Given the description of an element on the screen output the (x, y) to click on. 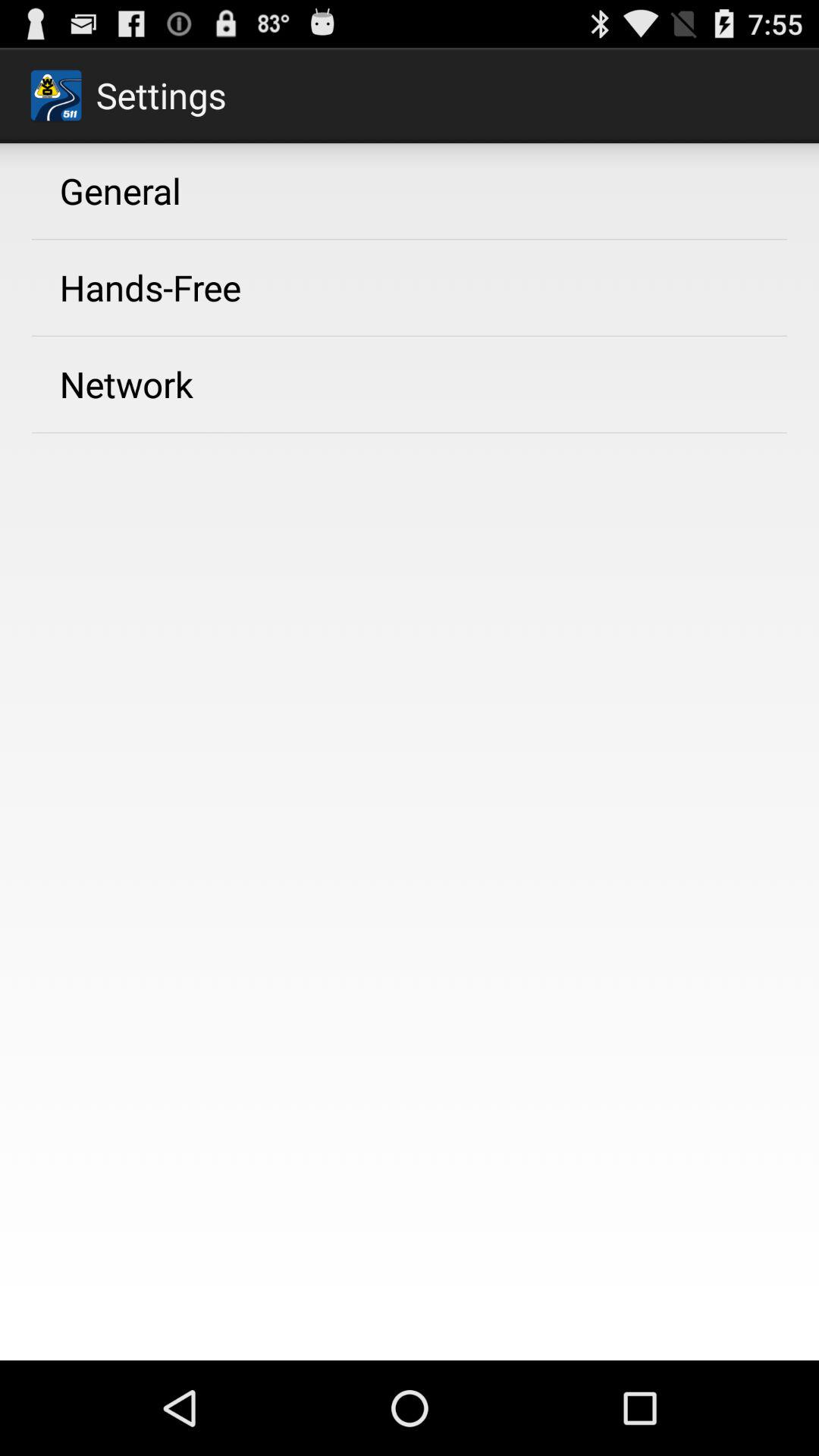
scroll to the network icon (126, 384)
